Given the description of an element on the screen output the (x, y) to click on. 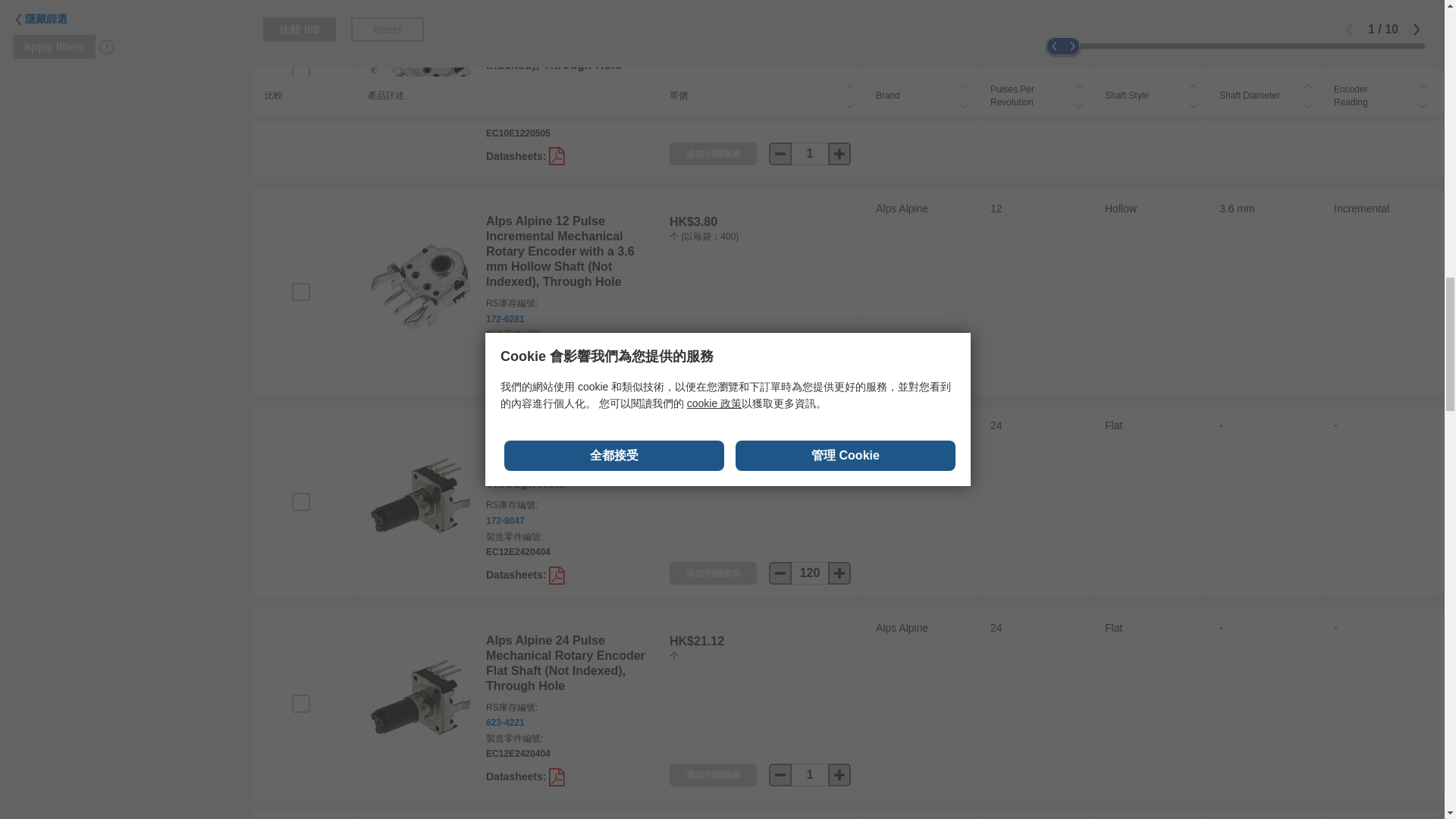
on (299, 75)
on (299, 502)
on (299, 703)
120 (810, 572)
1 (810, 153)
on (299, 291)
400 (810, 370)
